Given the description of an element on the screen output the (x, y) to click on. 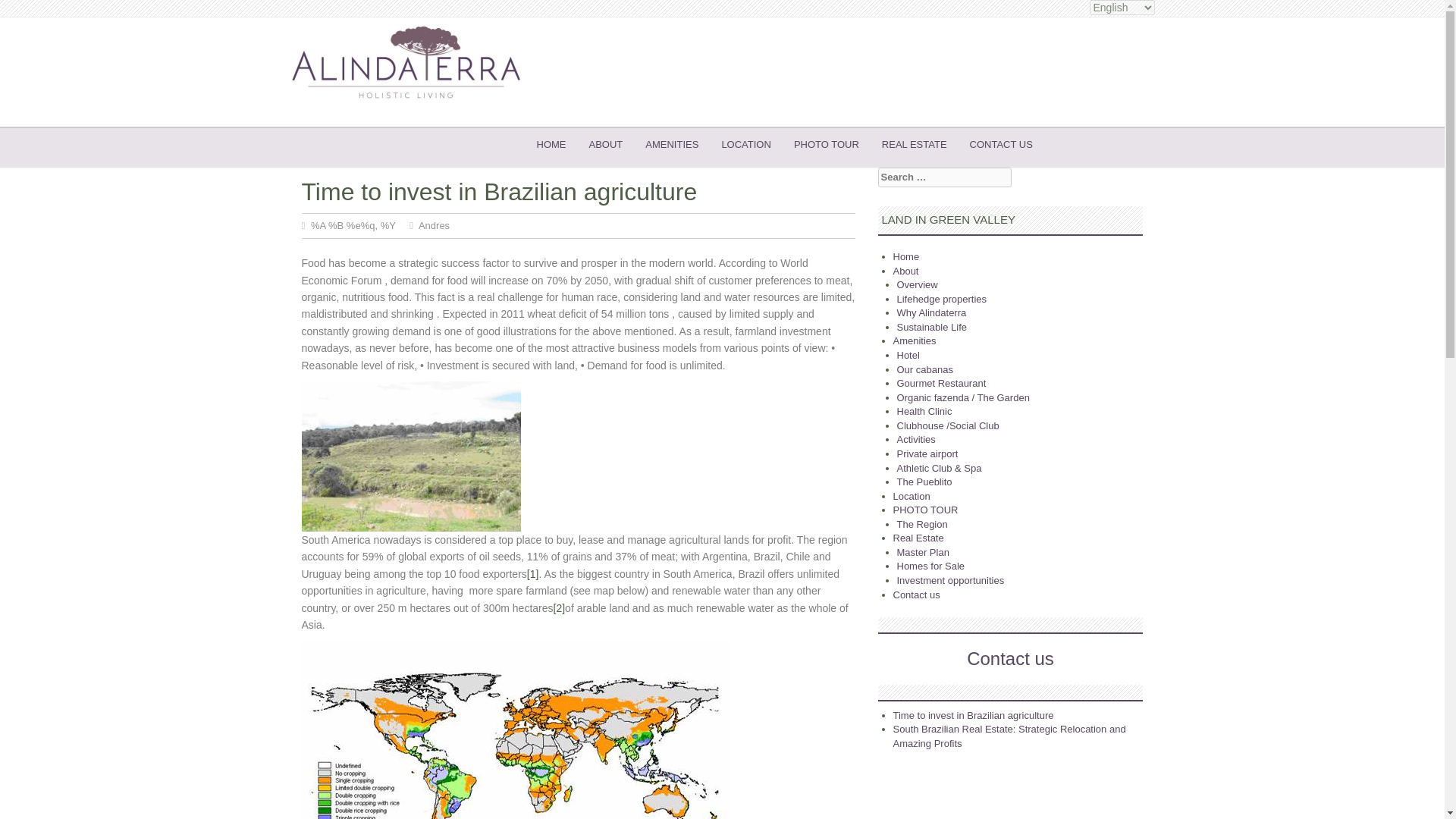
Andres (434, 225)
AMENITIES (671, 144)
World  land resources (515, 729)
HOME (550, 144)
World  land resources (411, 456)
SKIP TO CONTENT (580, 144)
PHOTO TOUR (826, 144)
CONTACT US (1000, 144)
REAL ESTATE (914, 144)
LOCATION (746, 144)
